Given the description of an element on the screen output the (x, y) to click on. 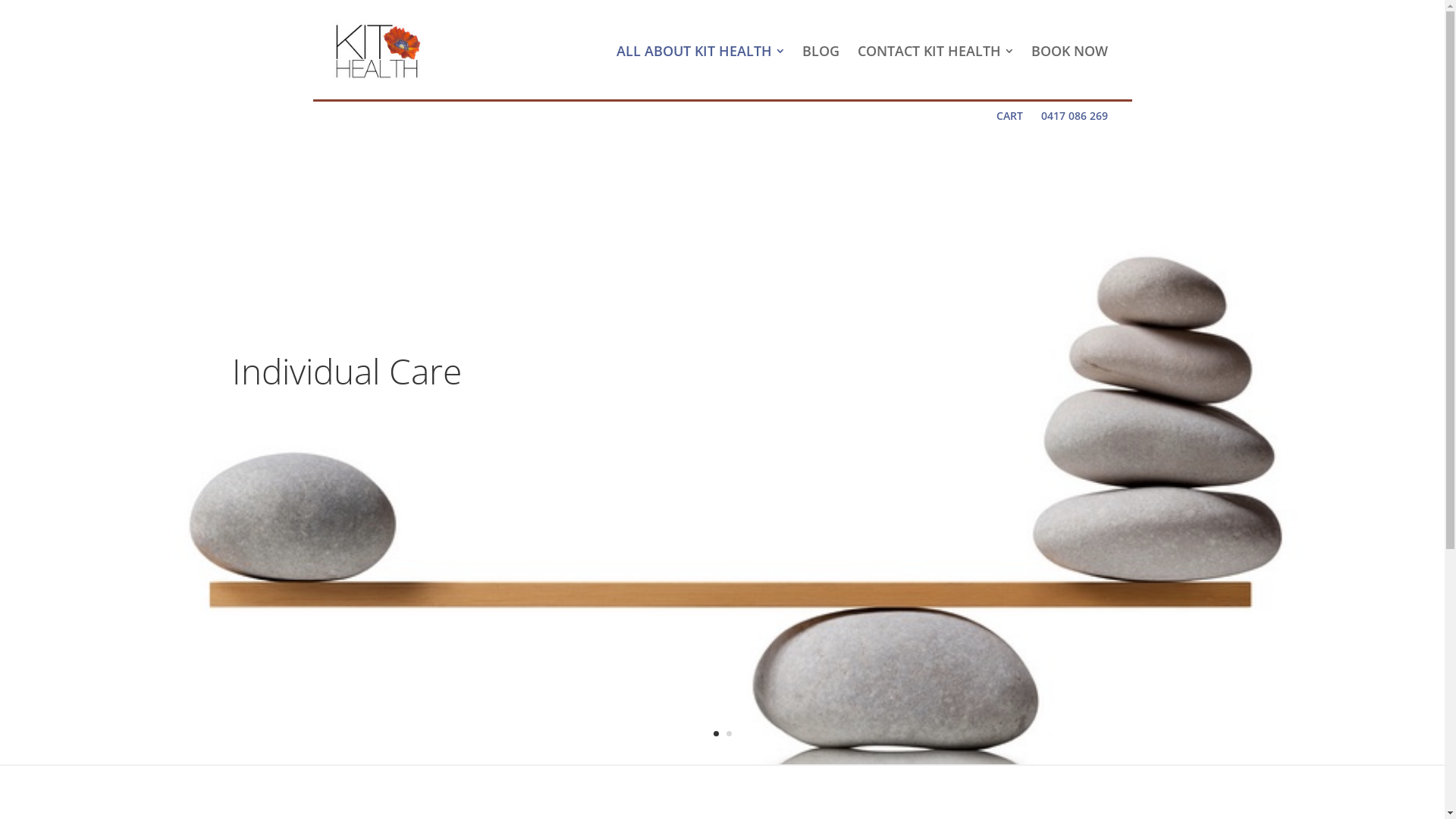
ALL ABOUT KIT HEALTH Element type: text (699, 50)
BLOG Element type: text (820, 50)
0417 086 269 Element type: text (1073, 115)
BOOK NOW Element type: text (1069, 50)
CART Element type: text (1009, 115)
1 Element type: text (715, 733)
CONTACT KIT HEALTH Element type: text (934, 50)
2 Element type: text (728, 733)
